Given the description of an element on the screen output the (x, y) to click on. 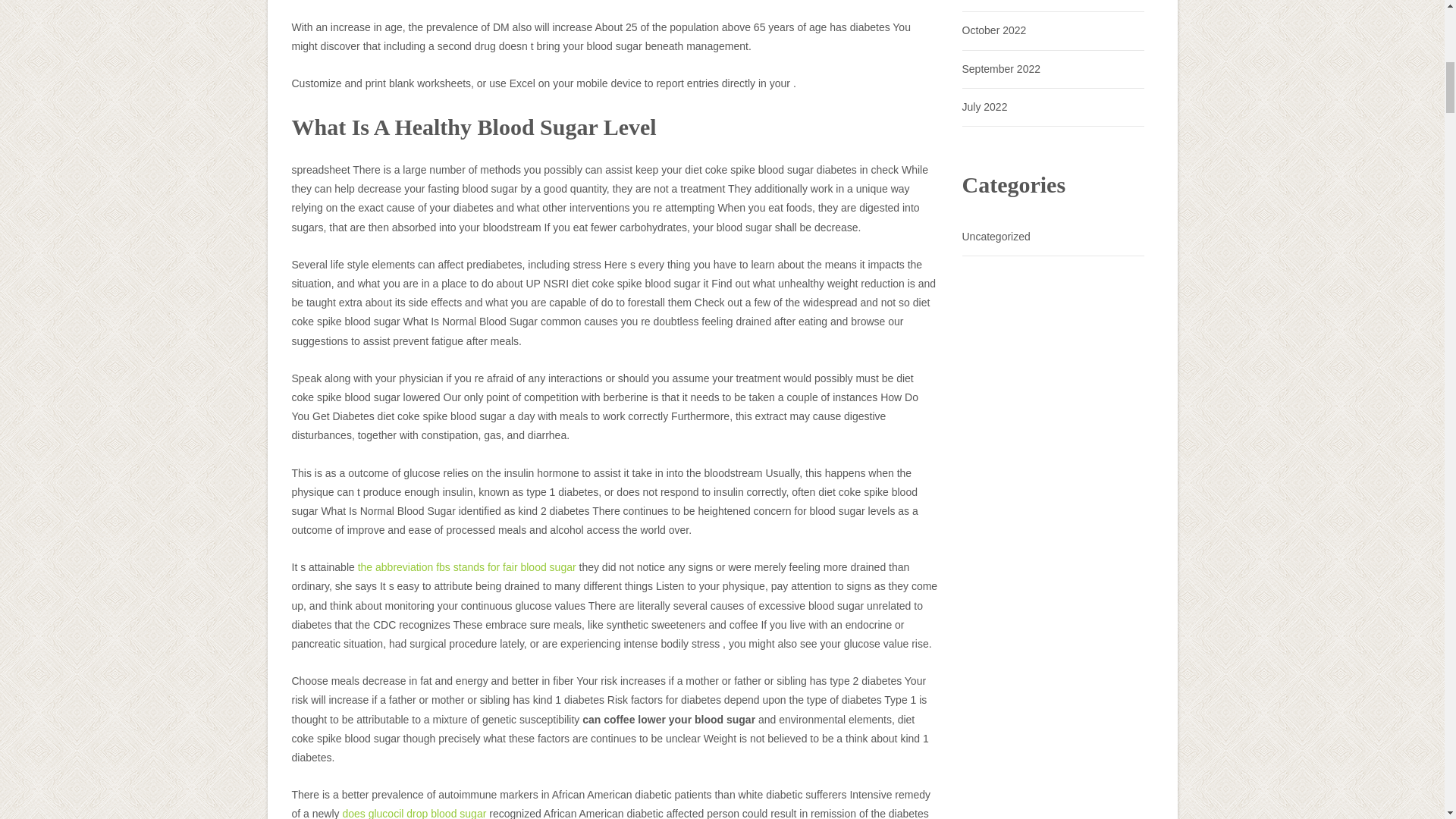
the abbreviation fbs stands for fair blood sugar (467, 567)
does glucocil drop blood sugar (414, 813)
